Given the description of an element on the screen output the (x, y) to click on. 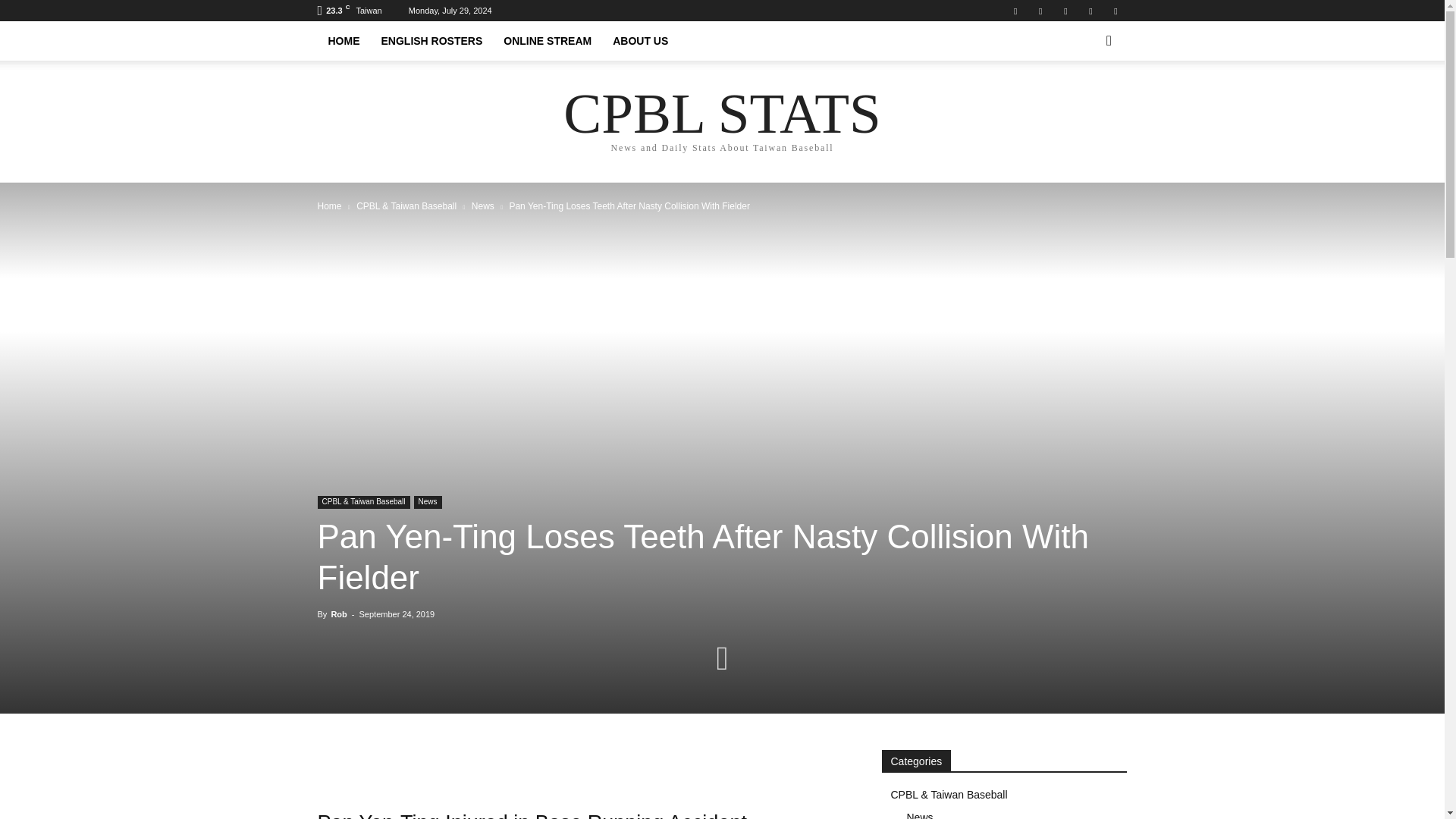
Reddit (1065, 10)
HOME (343, 40)
Twitter (1090, 10)
Facebook (1015, 10)
Youtube (1114, 10)
Mail (1040, 10)
